Given the description of an element on the screen output the (x, y) to click on. 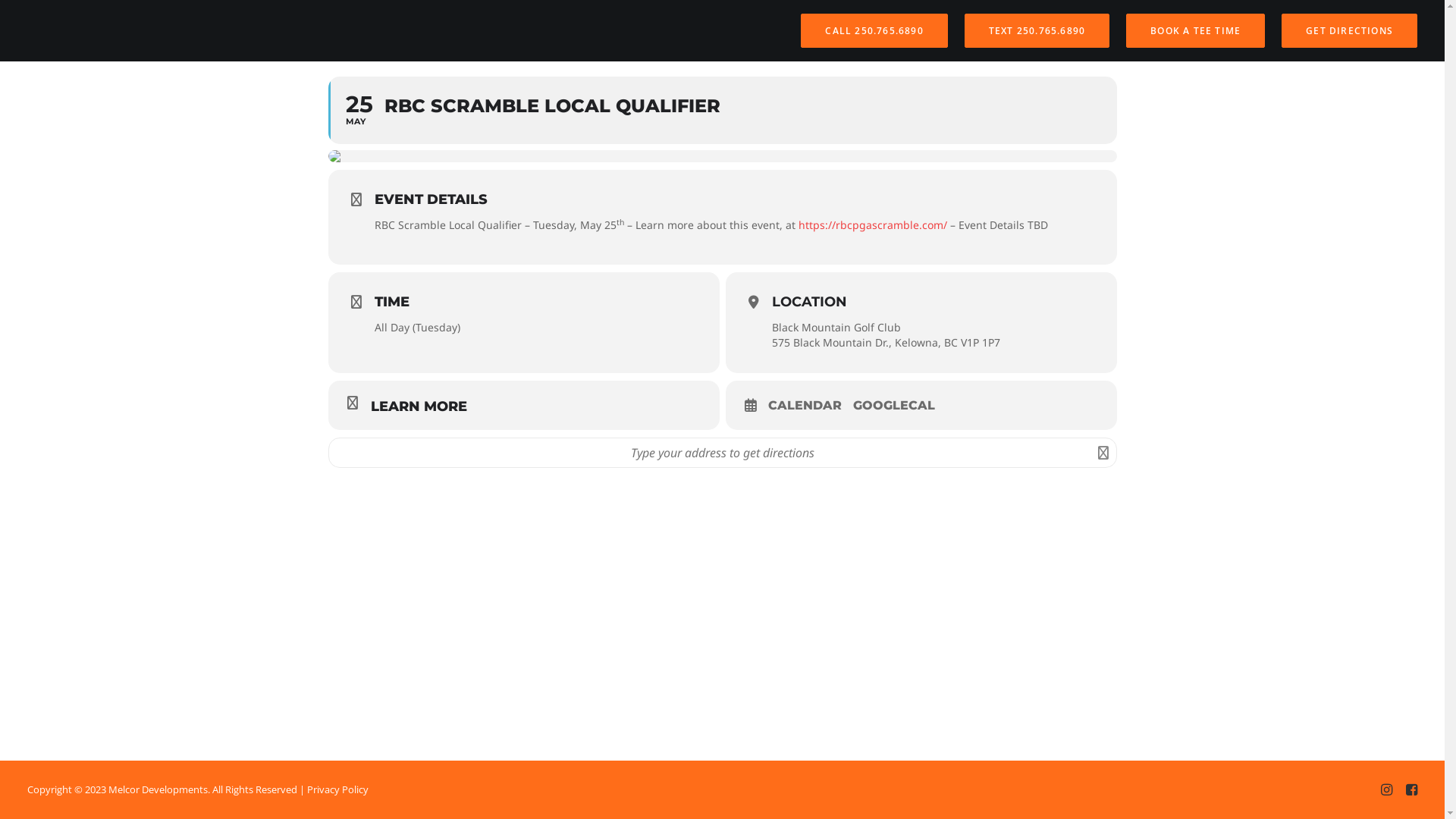
CALENDAR Element type: text (809, 405)
TEXT 250.765.6890 Element type: text (1036, 30)
LEARN MORE Element type: text (522, 404)
575 Black Mountain Dr., Kelowna, BC V1P 1P7 Element type: text (885, 342)
https://rbcpgascramble.com/ Element type: text (871, 224)
BOOK A TEE TIME Element type: text (1195, 30)
Black Mountain Golf Club Element type: text (835, 327)
25
MAY
RBC SCRAMBLE LOCAL QUALIFIER Element type: text (721, 110)
Privacy Policy Element type: text (337, 789)
LOCATION Element type: text (809, 301)
GET DIRECTIONS Element type: text (1345, 30)
Click here to get directions Element type: hover (1103, 452)
GOOGLECAL Element type: text (898, 405)
CALL 250.765.6890 Element type: text (876, 30)
